Given the description of an element on the screen output the (x, y) to click on. 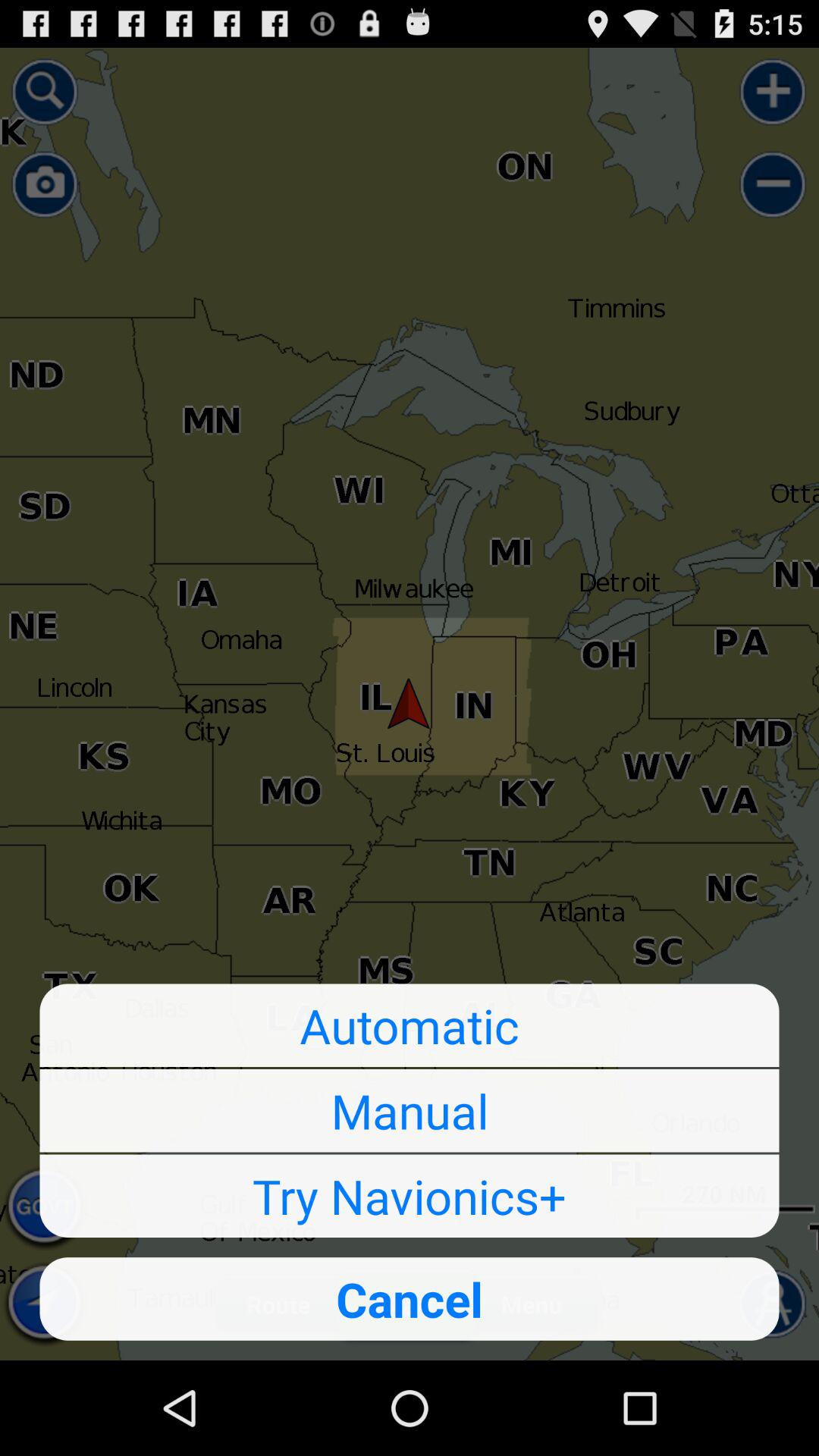
click the try navionics+ (409, 1195)
